Given the description of an element on the screen output the (x, y) to click on. 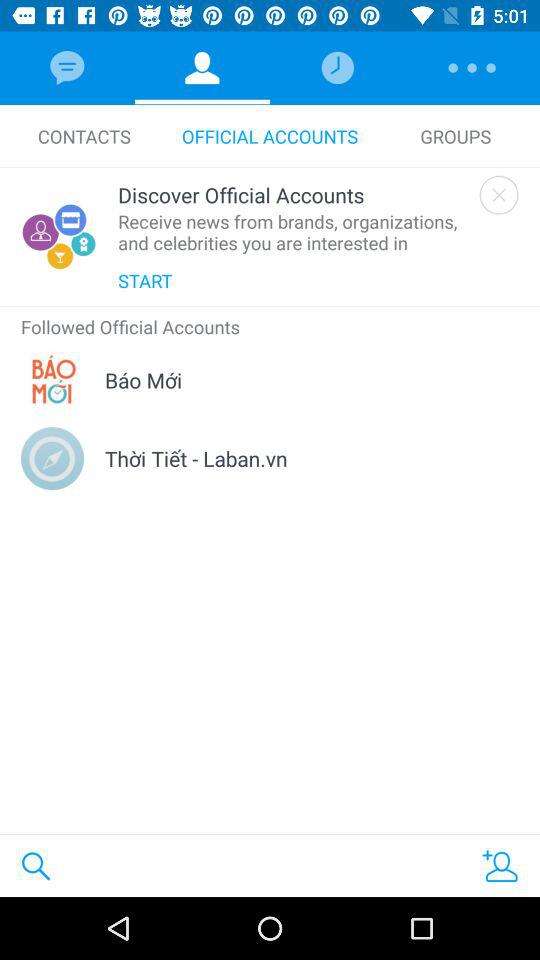
press the item next to the official accounts (455, 136)
